Given the description of an element on the screen output the (x, y) to click on. 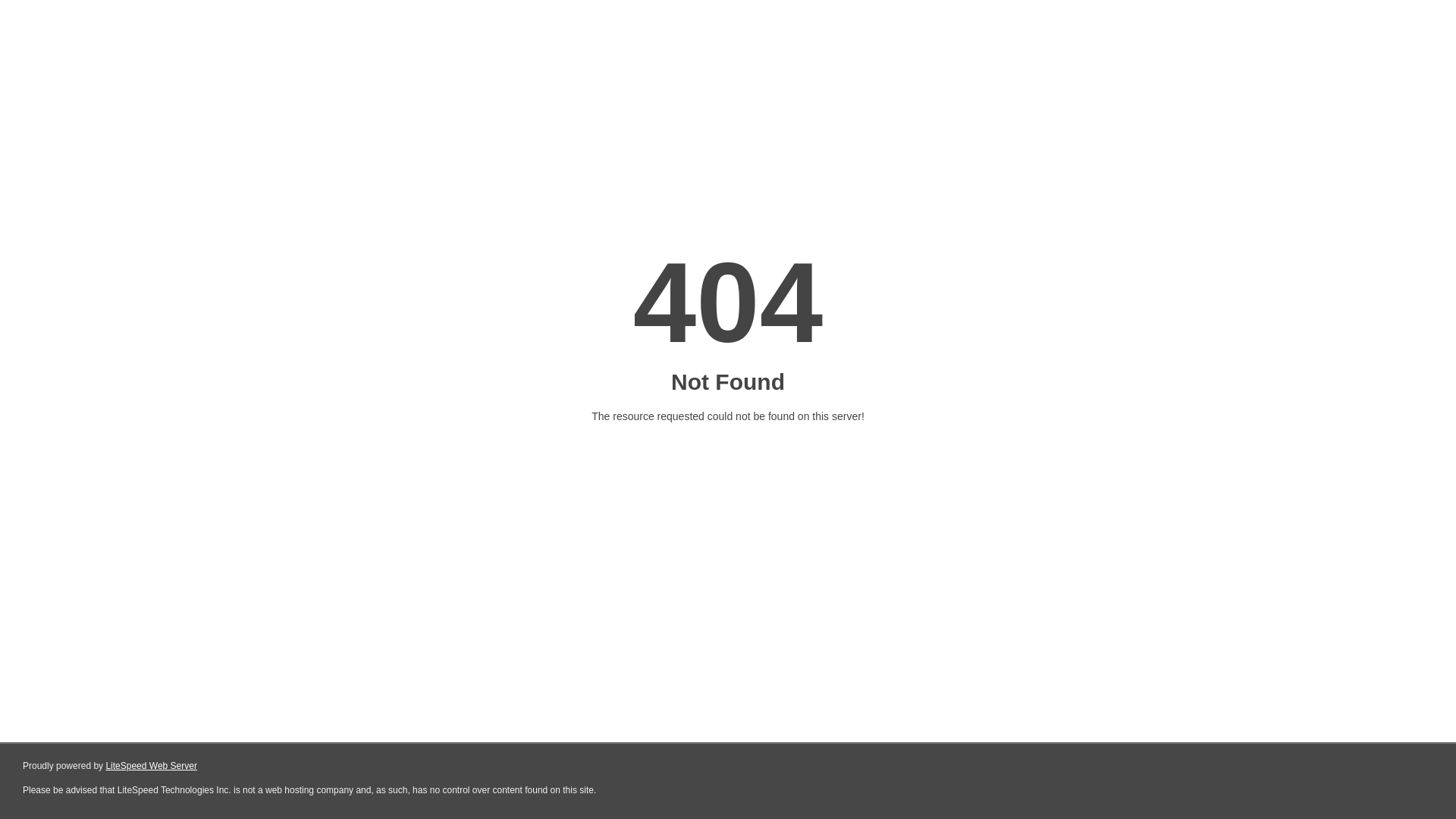
LiteSpeed Web Server Element type: text (151, 765)
